Given the description of an element on the screen output the (x, y) to click on. 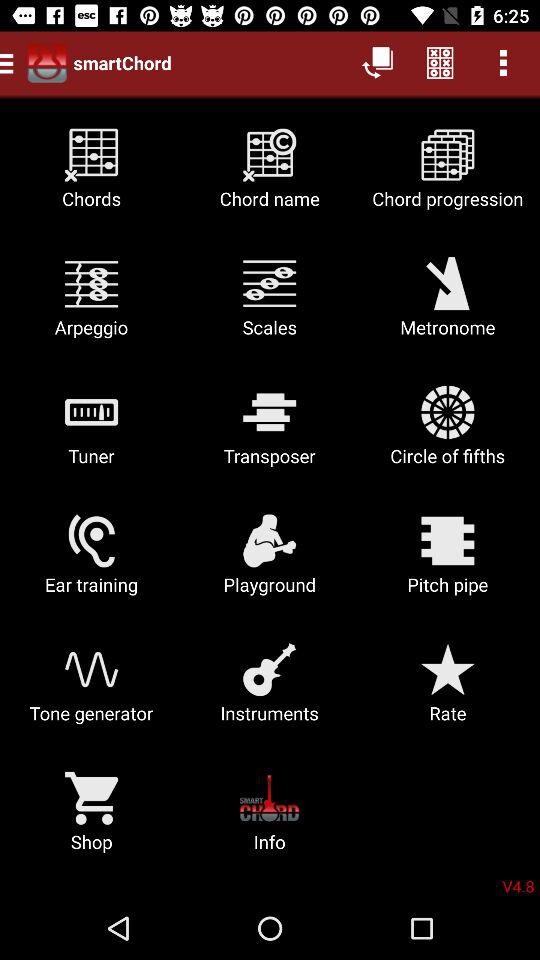
launch the item to the left of the playground icon (91, 561)
